Given the description of an element on the screen output the (x, y) to click on. 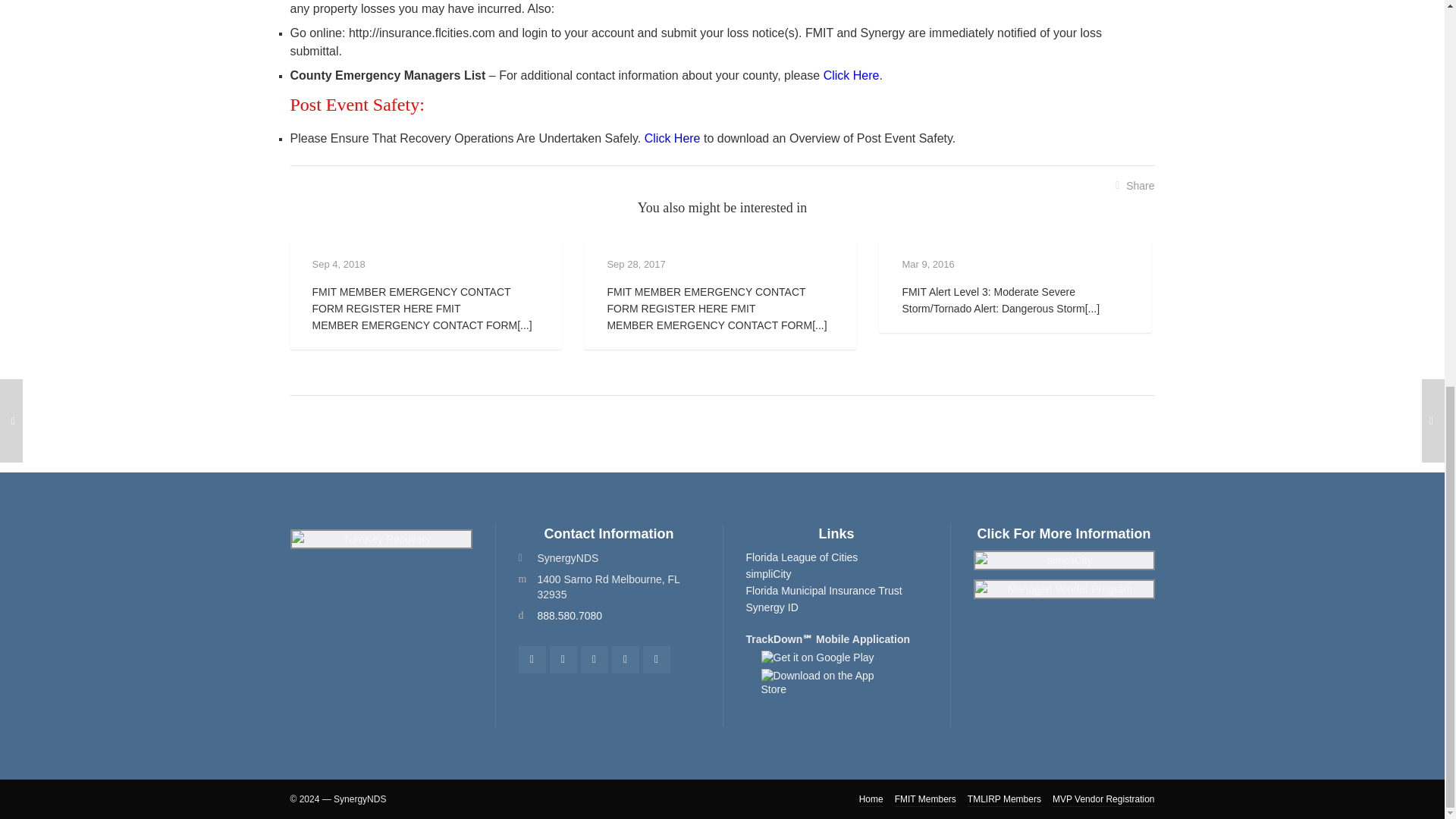
Click Here (851, 74)
simpliCity (768, 573)
Click Here (672, 137)
888.580.7080 (569, 615)
Florida League of Cities (802, 557)
